Given the description of an element on the screen output the (x, y) to click on. 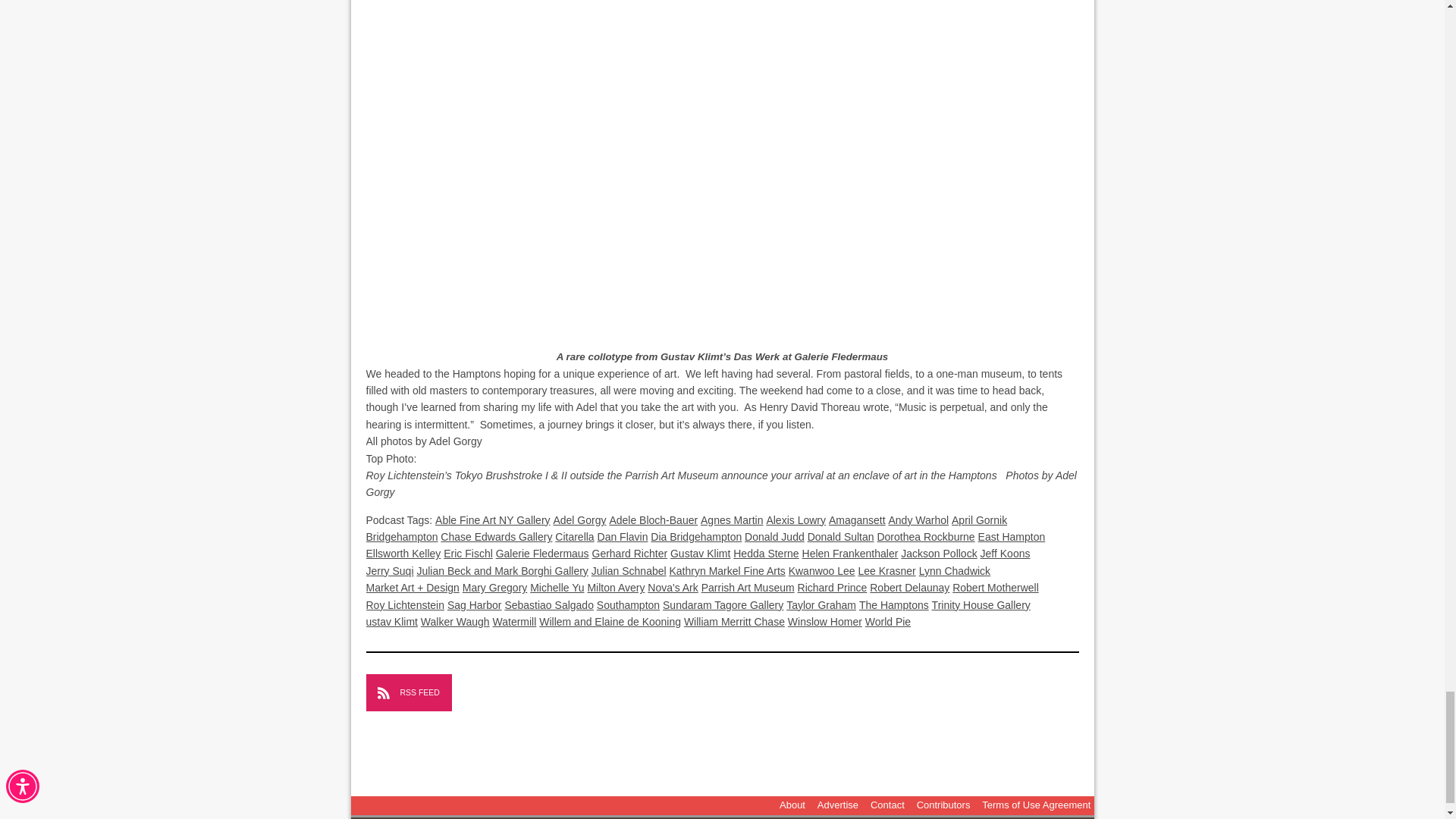
Chase Edwards Gallery (496, 536)
Andy Warhol (918, 520)
Amagansett (856, 520)
Dan Flavin (621, 536)
Able Fine Art NY Gallery (492, 520)
Donald Judd (774, 536)
Alexis Lowry (795, 520)
Citarella (574, 536)
April Gornik (979, 520)
Dia Bridgehampton (695, 536)
Adel Gorgy (579, 520)
Bridgehampton (401, 536)
Adele Bloch-Bauer (652, 520)
Agnes Martin (731, 520)
